Given the description of an element on the screen output the (x, y) to click on. 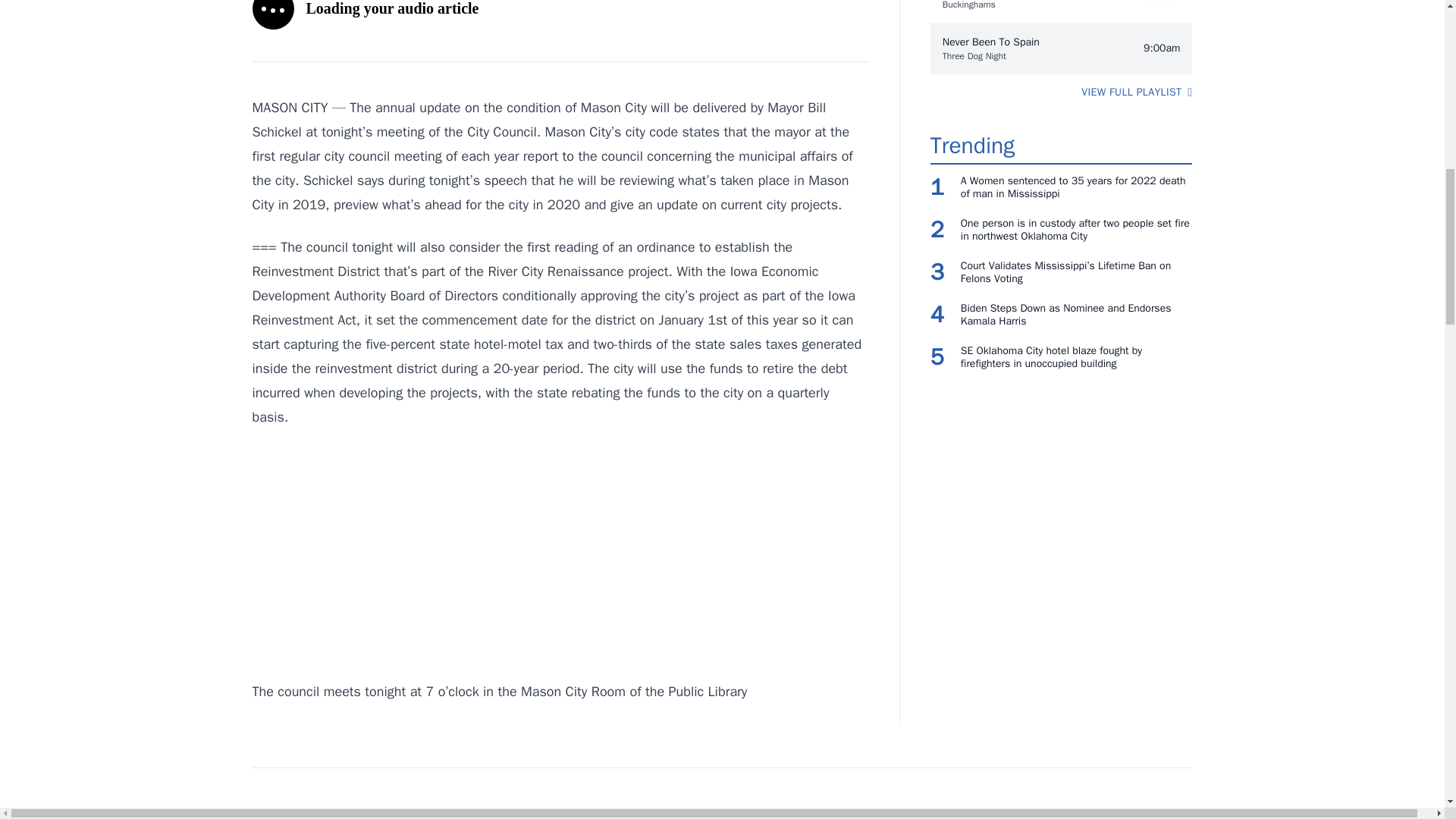
3rd party ad content (560, 554)
